Given the description of an element on the screen output the (x, y) to click on. 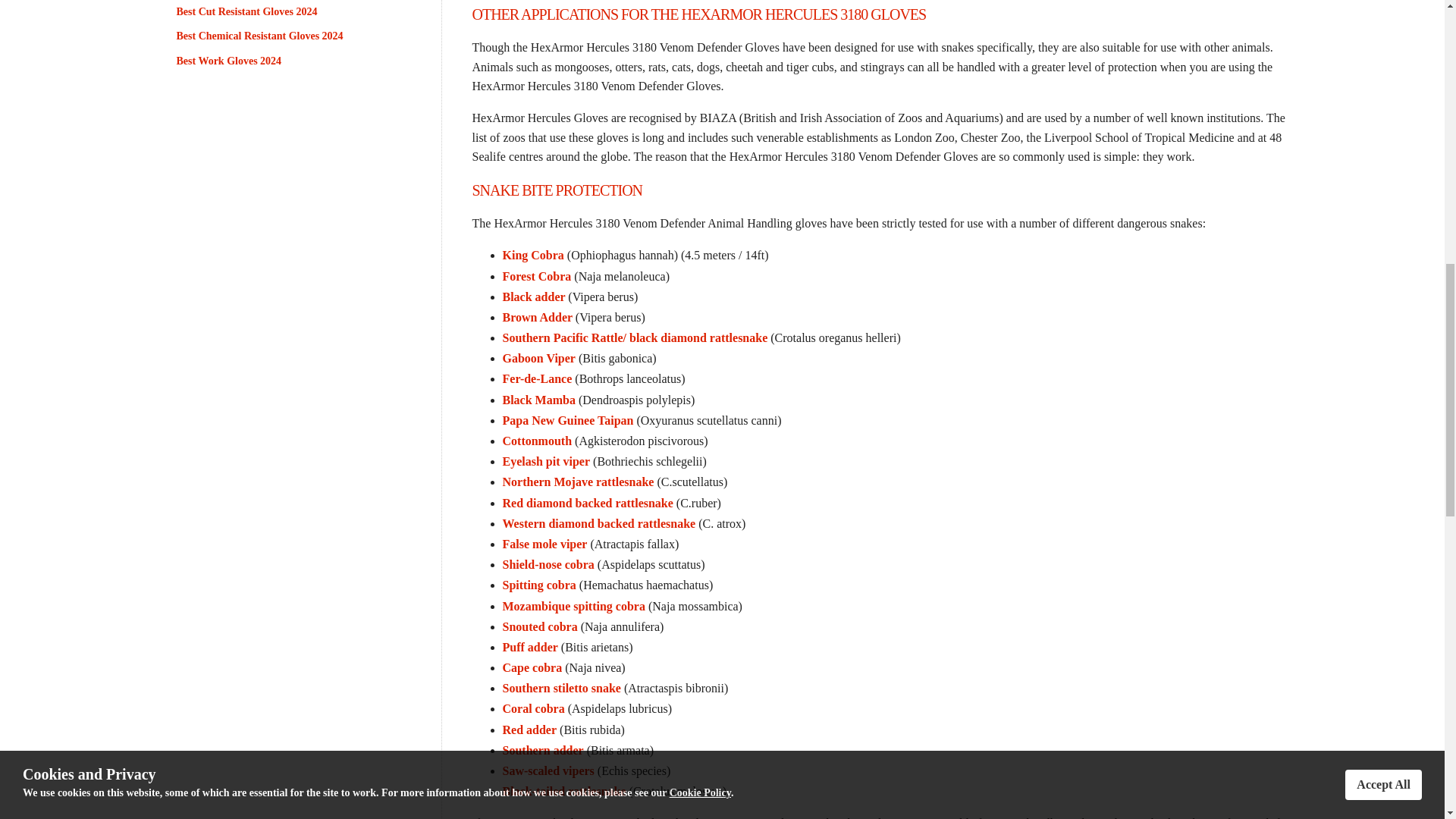
Black Mamba (540, 399)
Best Chemical Resistant Gloves 2024 (281, 36)
Fer-de-Lance (537, 378)
Black adder (534, 296)
Brown Adder (538, 317)
Best Cut Resistant Gloves 2024 (281, 12)
Best Work Gloves 2024 (281, 61)
Forest Cobra (536, 276)
King Cobra (532, 254)
Gaboon Viper (538, 358)
